Given the description of an element on the screen output the (x, y) to click on. 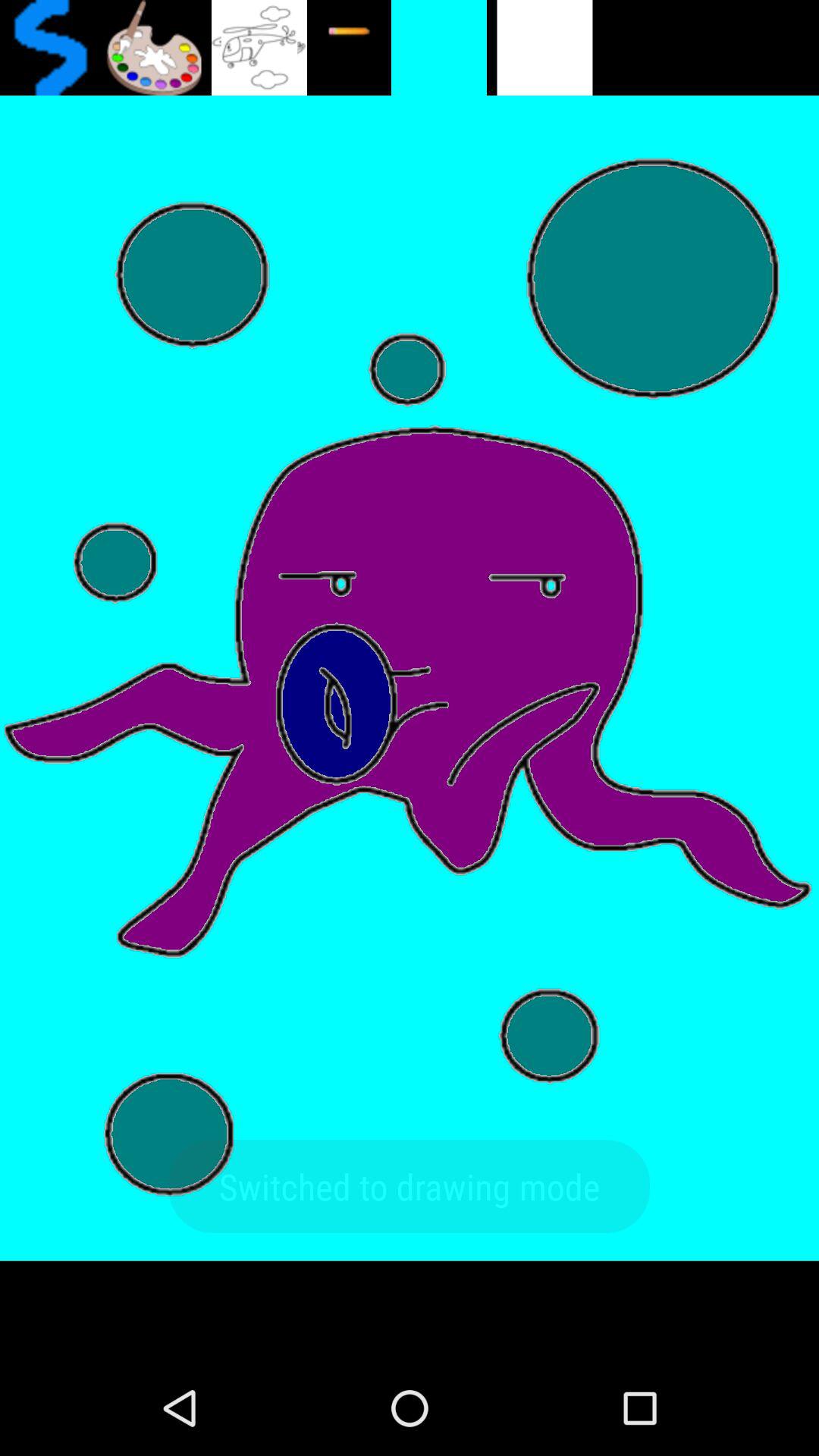
select a different color (153, 47)
